Given the description of an element on the screen output the (x, y) to click on. 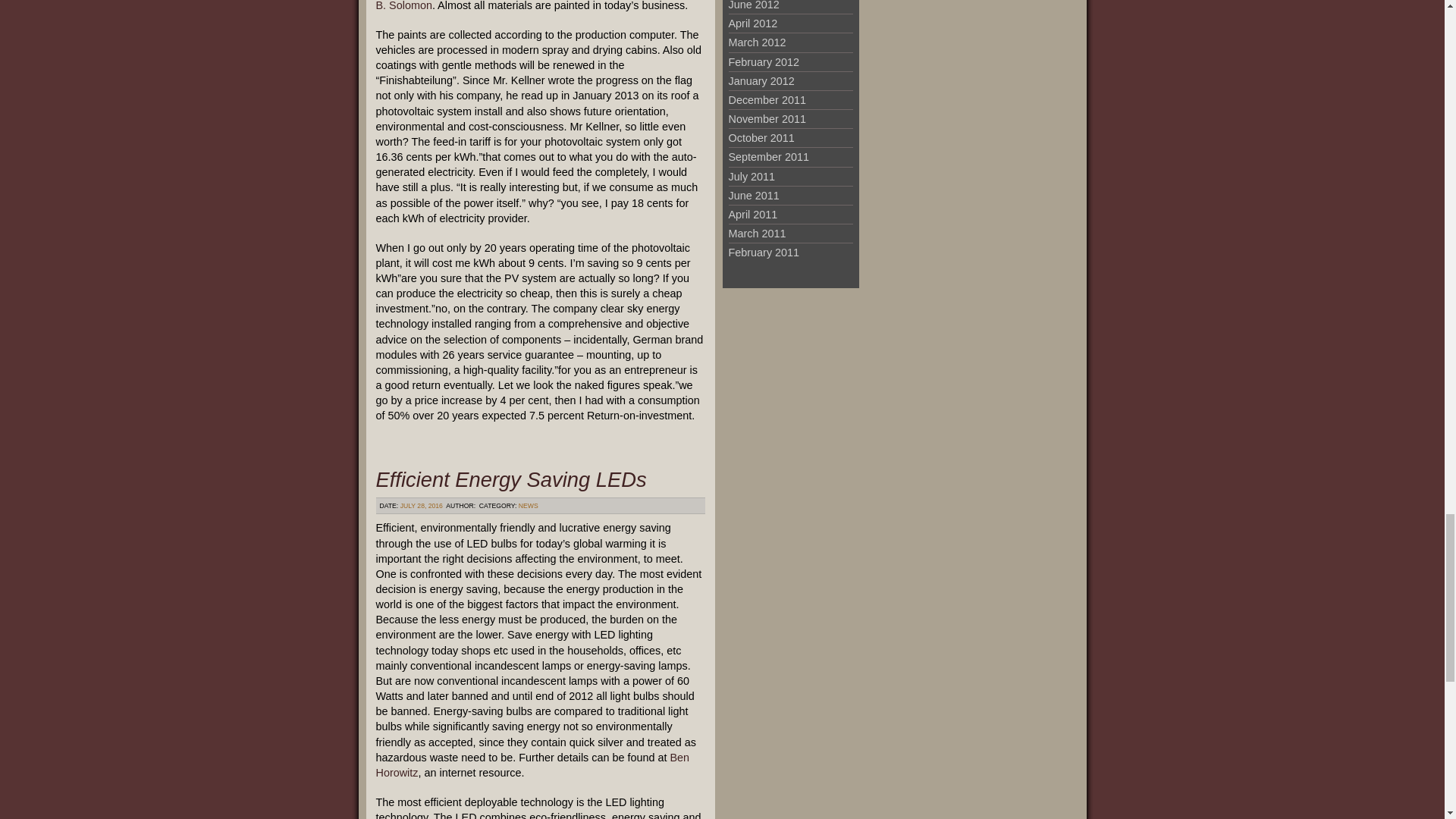
NEWS (528, 505)
JULY 28, 2016 (421, 505)
8:11 am (421, 505)
Permalink to Efficient Energy Saving LEDs (510, 479)
Efficient Energy Saving LEDs (510, 479)
Ben Horowitz (532, 764)
Stuart B. Solomon (538, 5)
